Given the description of an element on the screen output the (x, y) to click on. 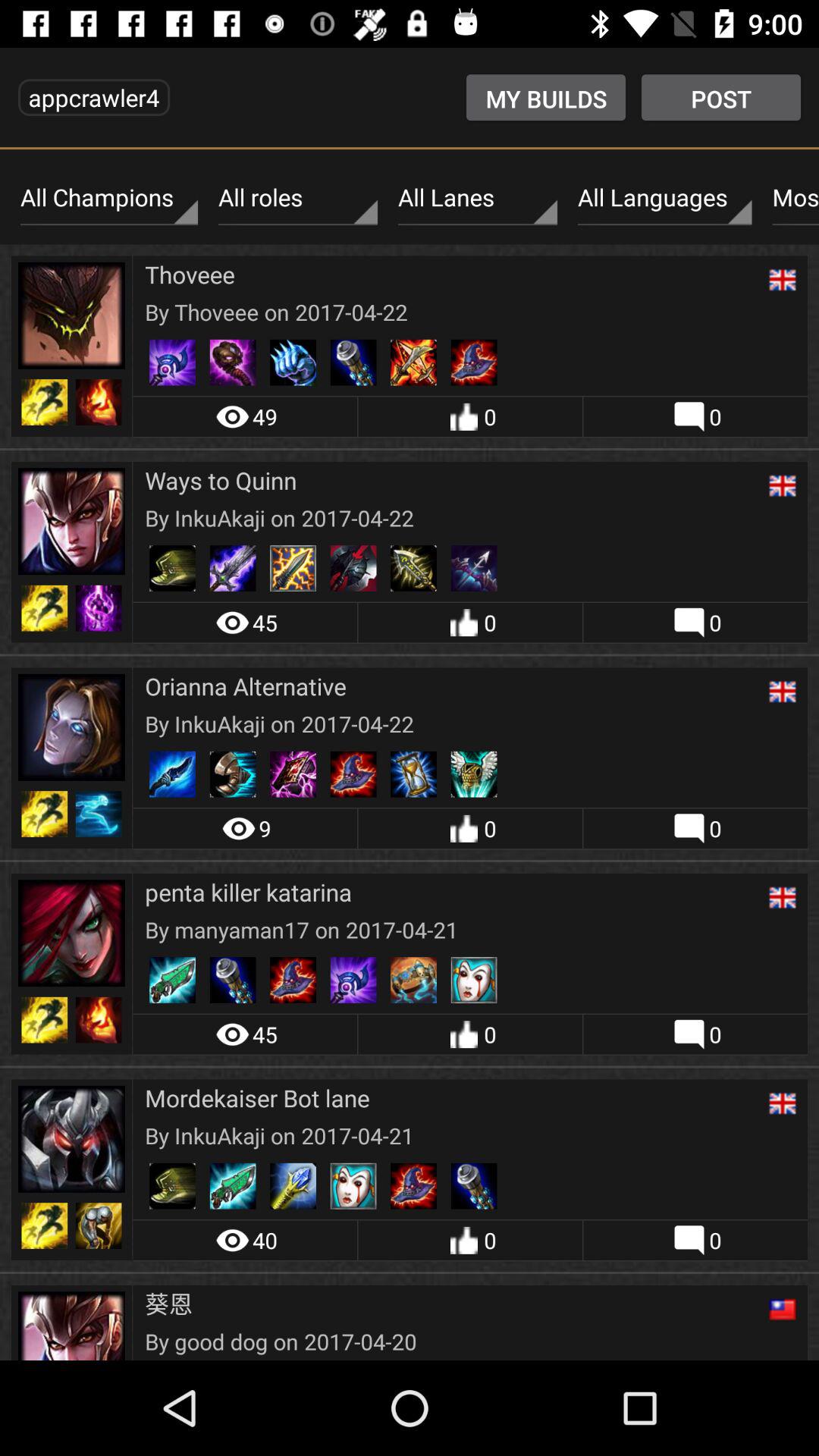
turn on item above the thoveee icon (477, 198)
